Given the description of an element on the screen output the (x, y) to click on. 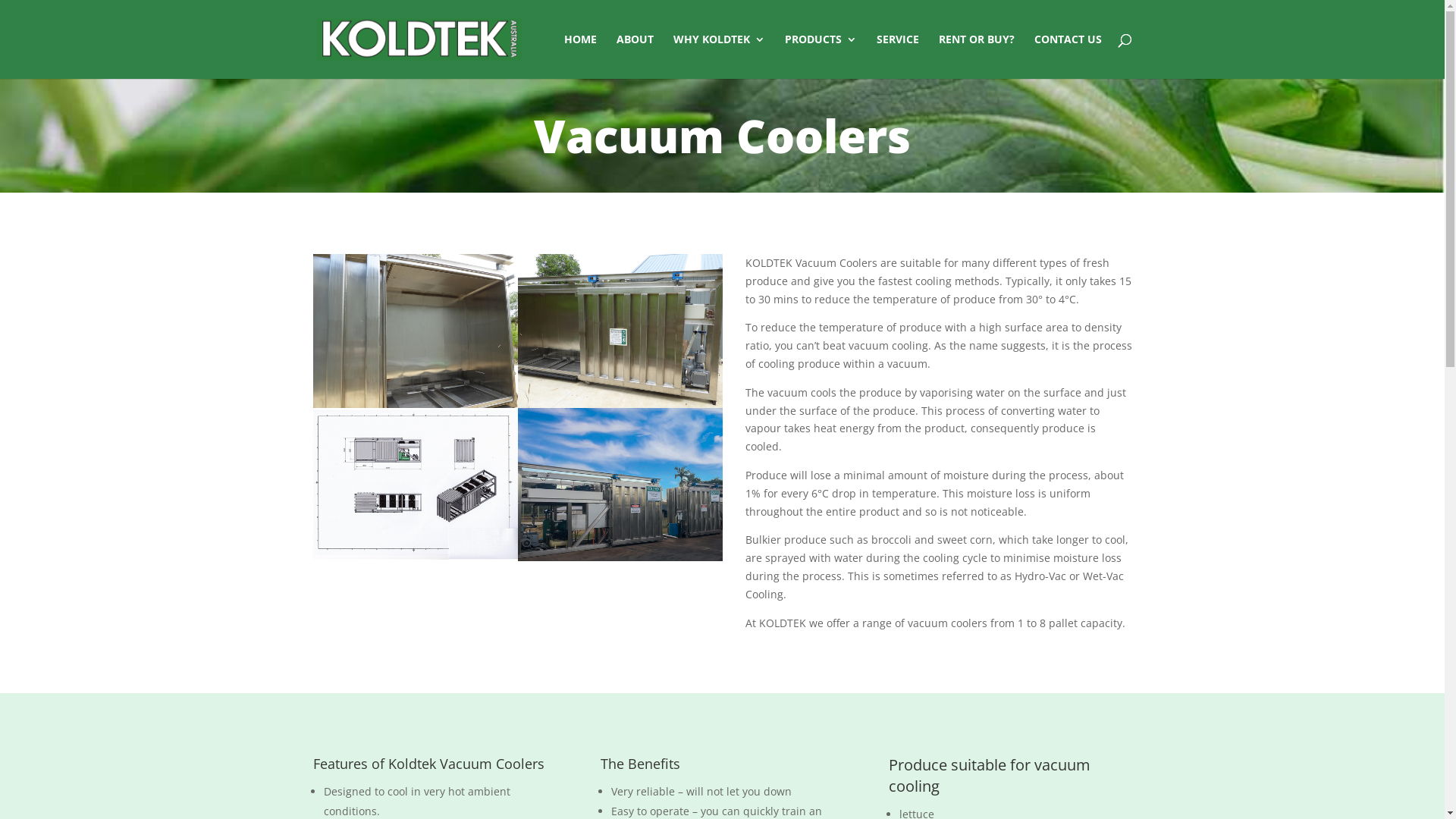
HOME Element type: text (580, 56)
CONTACT US Element type: text (1067, 56)
ABOUT Element type: text (633, 56)
RENT OR BUY? Element type: text (976, 56)
PRODUCTS Element type: text (820, 56)
WHY KOLDTEK Element type: text (719, 56)
SERVICE Element type: text (897, 56)
